Given the description of an element on the screen output the (x, y) to click on. 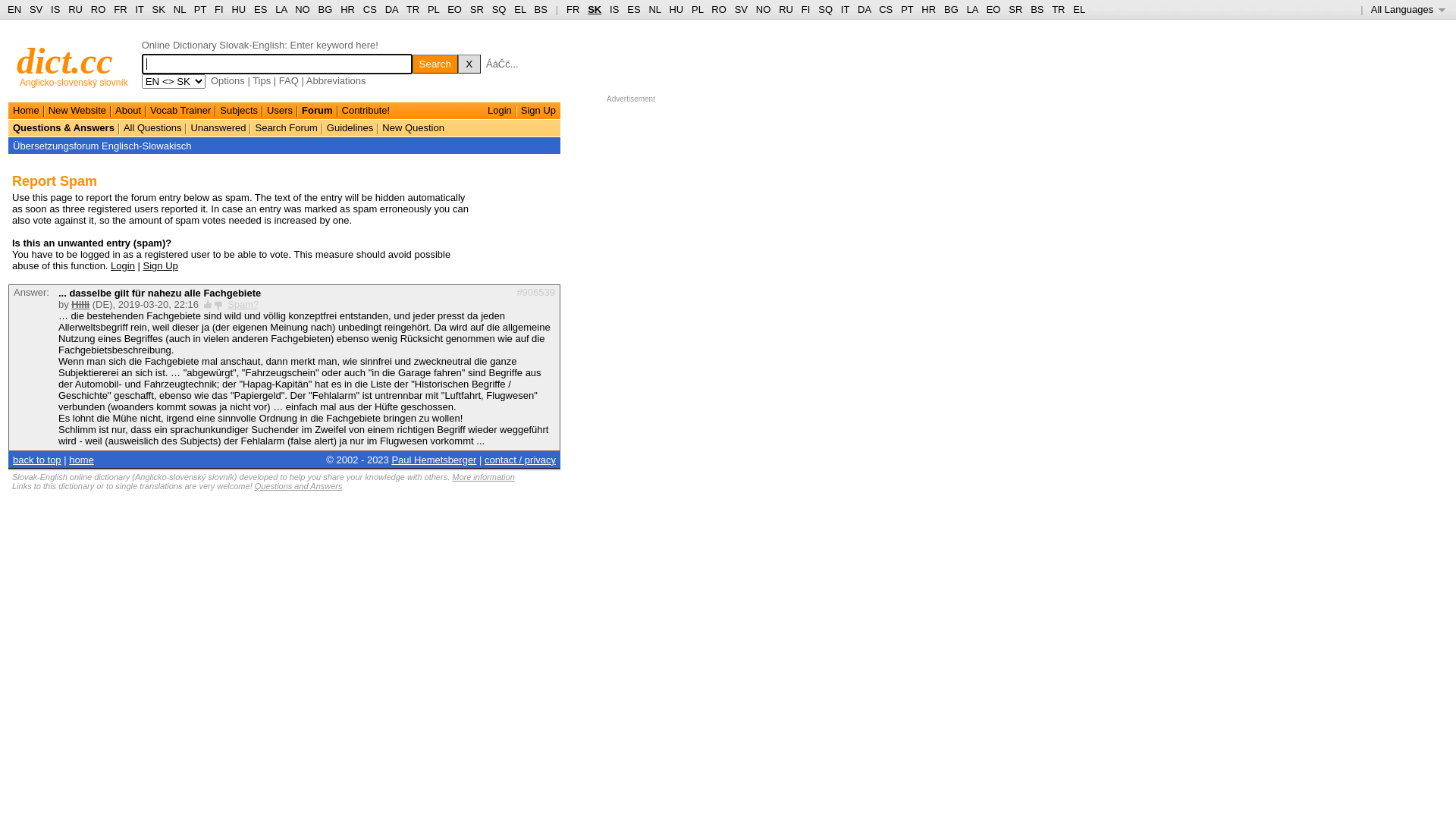
PL Element type: text (696, 9)
About Element type: text (128, 110)
PL Element type: text (433, 9)
Guidelines Element type: text (349, 127)
LA Element type: text (972, 9)
SR Element type: text (476, 9)
RU Element type: text (75, 9)
PT Element type: text (200, 9)
NO Element type: text (302, 9)
SK Element type: text (594, 9)
FAQ Element type: text (288, 80)
Abbreviations Element type: text (336, 80)
Unanswered Element type: text (217, 127)
Login Element type: text (122, 265)
IS Element type: text (613, 9)
NL Element type: text (179, 9)
NO Element type: text (763, 9)
LA Element type: text (280, 9)
EO Element type: text (454, 9)
TR Element type: text (1057, 9)
Sign Up Element type: text (537, 110)
RU Element type: text (785, 9)
DA Element type: text (391, 9)
HR Element type: text (347, 9)
New Website Element type: text (77, 110)
Search Forum Element type: text (285, 127)
SK Element type: text (158, 9)
Forum Element type: text (316, 110)
FI Element type: text (218, 9)
Hilli Element type: text (80, 304)
Spam? Element type: text (242, 304)
HU Element type: text (675, 9)
FI Element type: text (805, 9)
Questions and Answers Element type: text (298, 485)
SQ Element type: text (825, 9)
PT Element type: text (906, 9)
Options Element type: text (227, 80)
dict.cc Element type: text (64, 60)
Sign Up Element type: text (160, 265)
CS Element type: text (369, 9)
IT Element type: text (138, 9)
contact / privacy Element type: text (519, 458)
X Element type: text (469, 63)
Subjects Element type: text (238, 110)
BS Element type: text (1036, 9)
ES Element type: text (633, 9)
Home Element type: text (25, 110)
Contribute! Element type: text (366, 110)
EO Element type: text (993, 9)
TR Element type: text (412, 9)
RO Element type: text (98, 9)
SR Element type: text (1015, 9)
FR Element type: text (572, 9)
IT Element type: text (844, 9)
HU Element type: text (238, 9)
New Question Element type: text (413, 127)
home Element type: text (81, 458)
Users Element type: text (279, 110)
BG Element type: text (951, 9)
SQ Element type: text (499, 9)
SV Element type: text (35, 9)
Search Element type: text (435, 63)
All Questions Element type: text (152, 127)
NL Element type: text (654, 9)
SV Element type: text (740, 9)
CS Element type: text (885, 9)
ES Element type: text (260, 9)
Vocab Trainer Element type: text (180, 110)
FR Element type: text (119, 9)
Login Element type: text (499, 110)
back to top Element type: text (36, 458)
HR Element type: text (928, 9)
RO Element type: text (718, 9)
IS Element type: text (54, 9)
All Languages  Element type: text (1408, 9)
DA Element type: text (863, 9)
BG Element type: text (325, 9)
#906539 Element type: text (535, 292)
More information Element type: text (482, 476)
EL Element type: text (1079, 9)
Questions & Answers Element type: text (63, 127)
EN Element type: text (14, 9)
BS Element type: text (540, 9)
EL Element type: text (519, 9)
Paul Hemetsberger Element type: text (433, 458)
Tips Element type: text (261, 80)
